Given the description of an element on the screen output the (x, y) to click on. 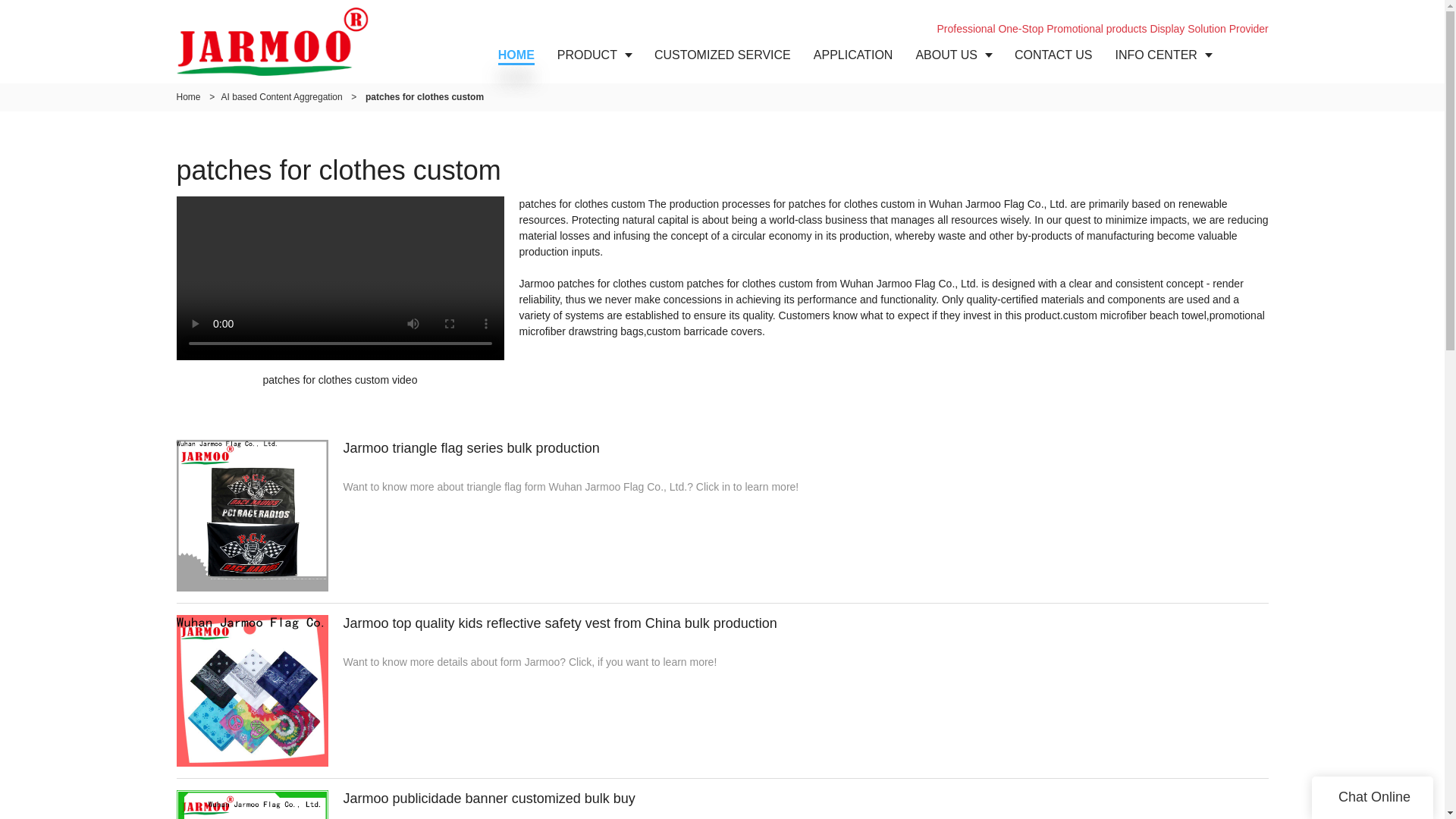
AI based Content Aggregation (281, 96)
HOME (516, 55)
Home (188, 96)
CONTACT US (1053, 55)
ABOUT US (953, 55)
APPLICATION (853, 55)
CUSTOMIZED SERVICE (722, 55)
INFO CENTER (1163, 55)
PRODUCT (594, 55)
